Given the description of an element on the screen output the (x, y) to click on. 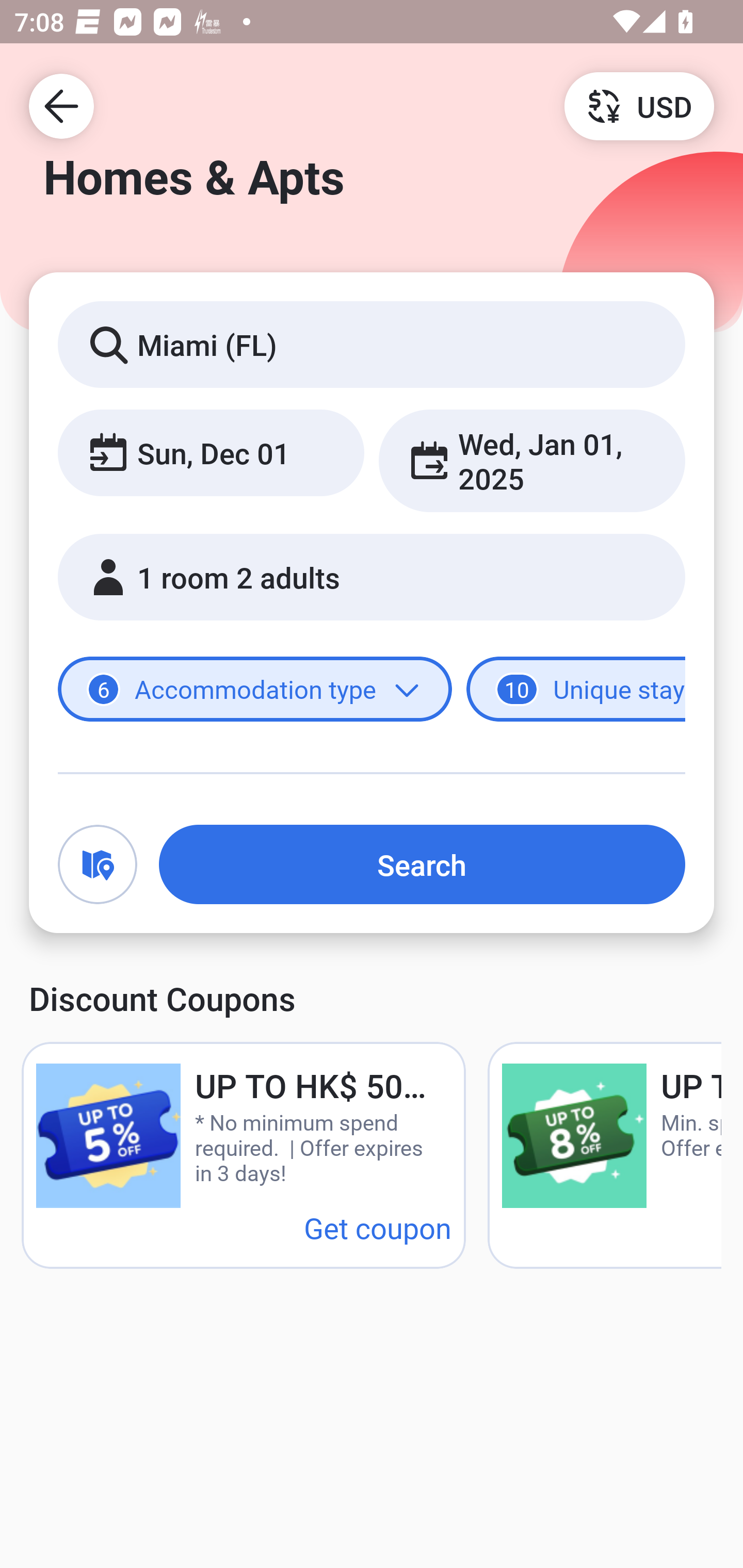
USD (639, 105)
Miami (FL) (371, 344)
Sun, Dec 01 (210, 452)
Wed, Jan 01, 2025 (531, 460)
1 room 2 adults (371, 576)
6 Accommodation type (254, 688)
10 Unique stays (575, 688)
Search (422, 864)
Get coupon (377, 1227)
